Given the description of an element on the screen output the (x, y) to click on. 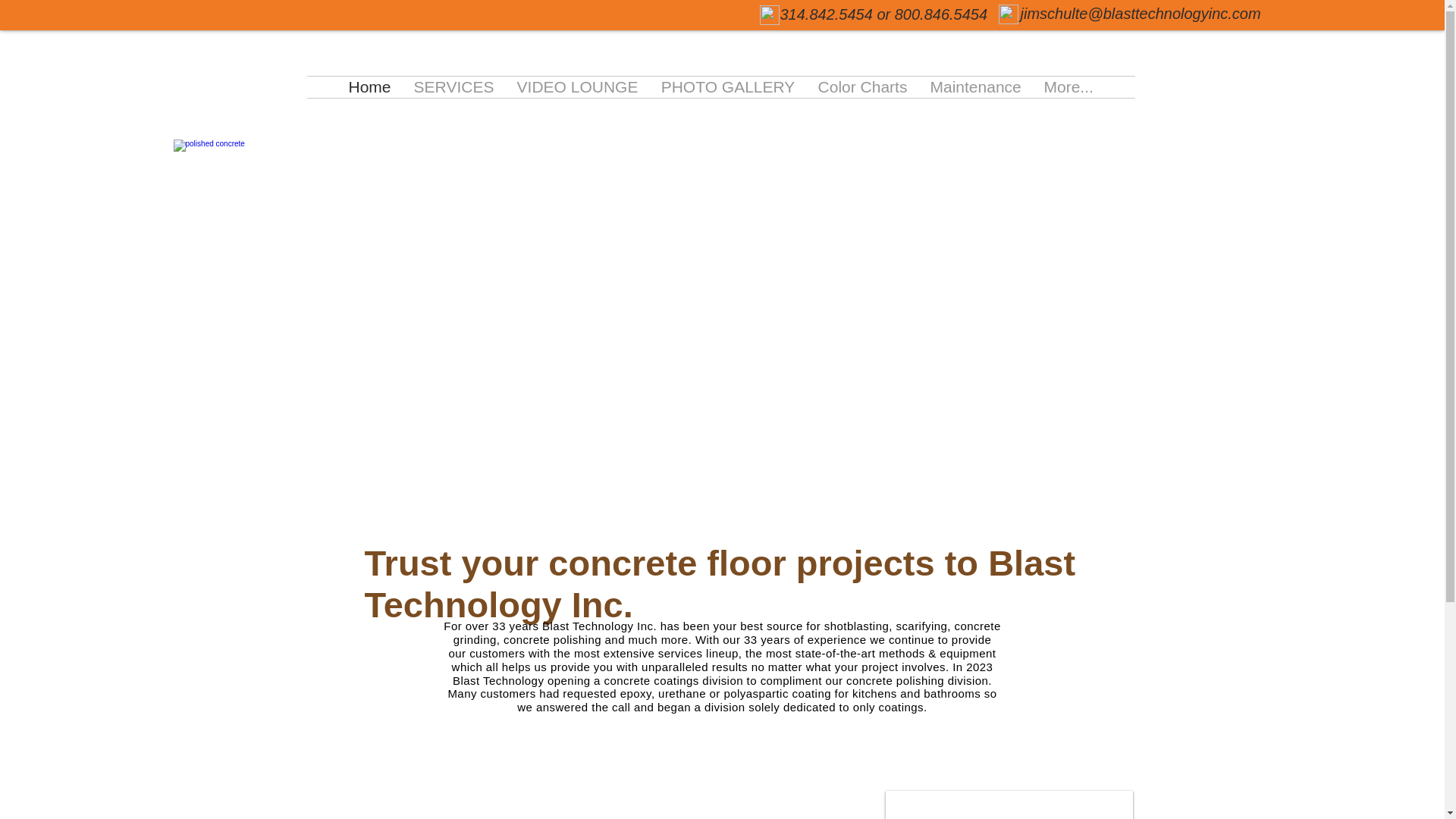
Home (368, 86)
Color Charts (862, 86)
Maintenance (975, 86)
VIDEO LOUNGE (577, 86)
PHOTO GALLERY (727, 86)
SERVICES (453, 86)
